Given the description of an element on the screen output the (x, y) to click on. 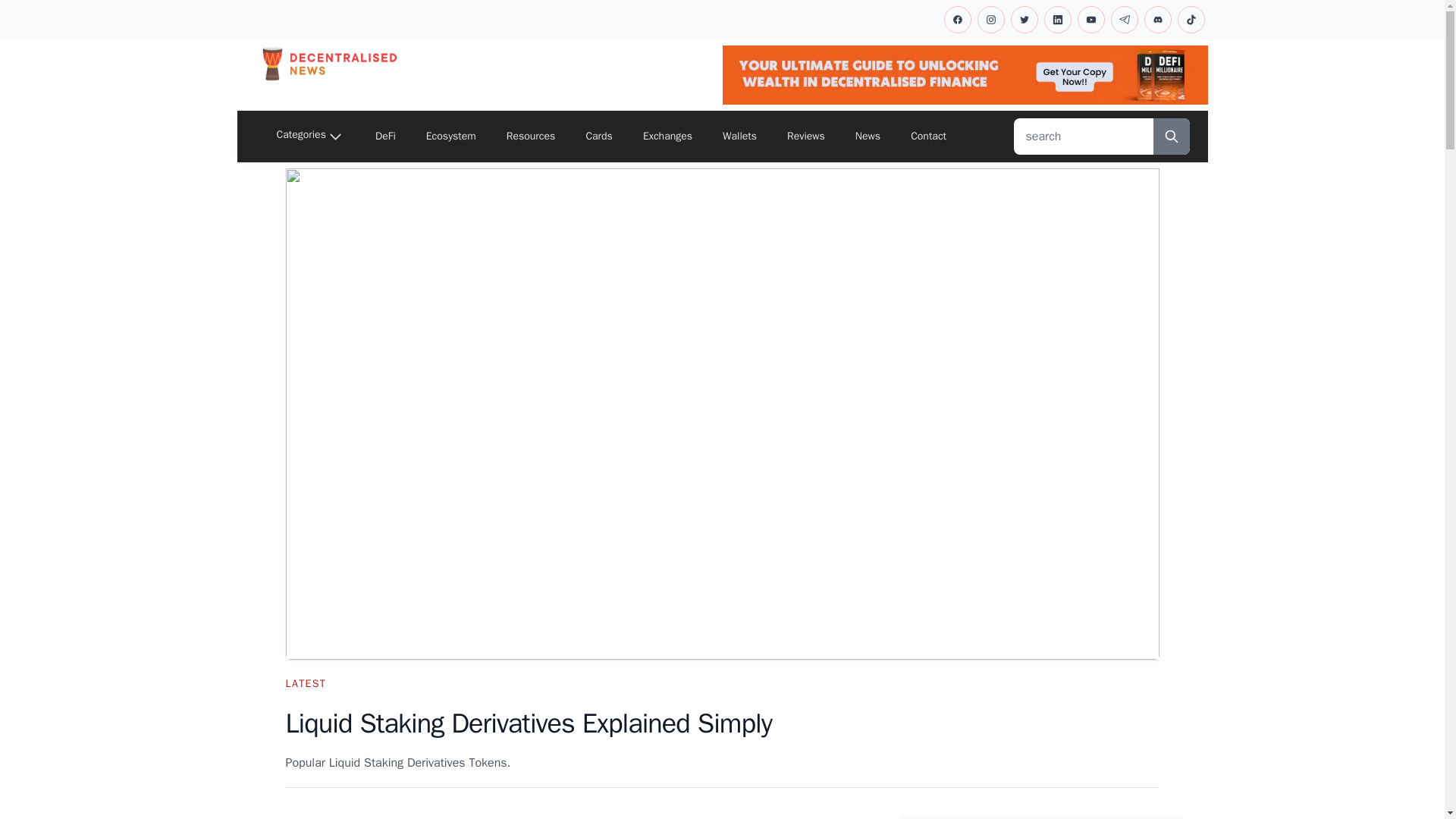
Contact (927, 136)
Resources (531, 136)
Reviews (805, 136)
Cards (598, 136)
Exchanges (667, 136)
News (867, 136)
Wallets (739, 136)
Ecosystem (451, 136)
DeFi (384, 136)
